Given the description of an element on the screen output the (x, y) to click on. 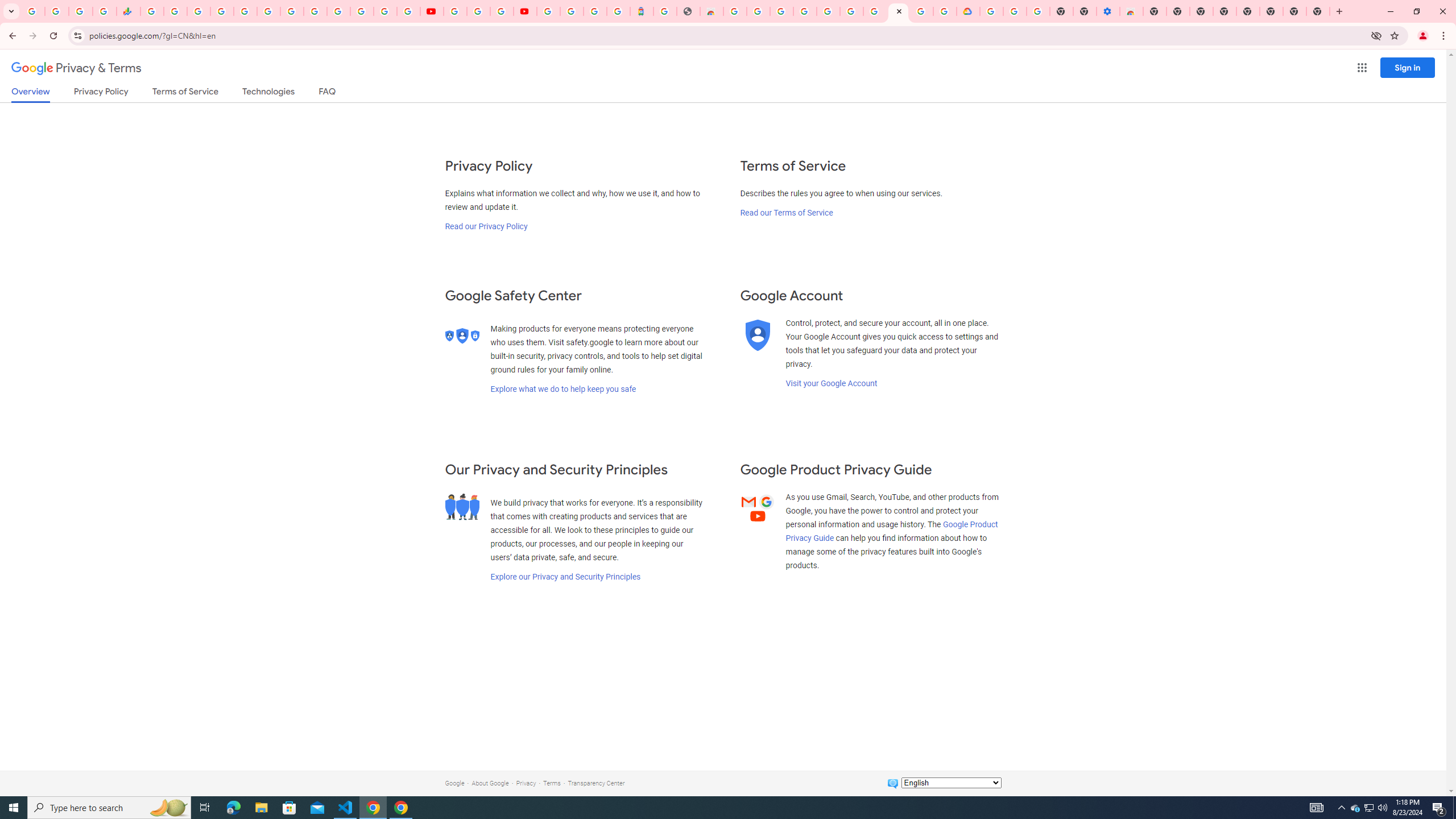
Sign in - Google Accounts (992, 11)
Google Product Privacy Guide (891, 530)
Google Account Help (874, 11)
YouTube (454, 11)
Privacy Checkup (408, 11)
Ad Settings (804, 11)
About Google (490, 783)
